Given the description of an element on the screen output the (x, y) to click on. 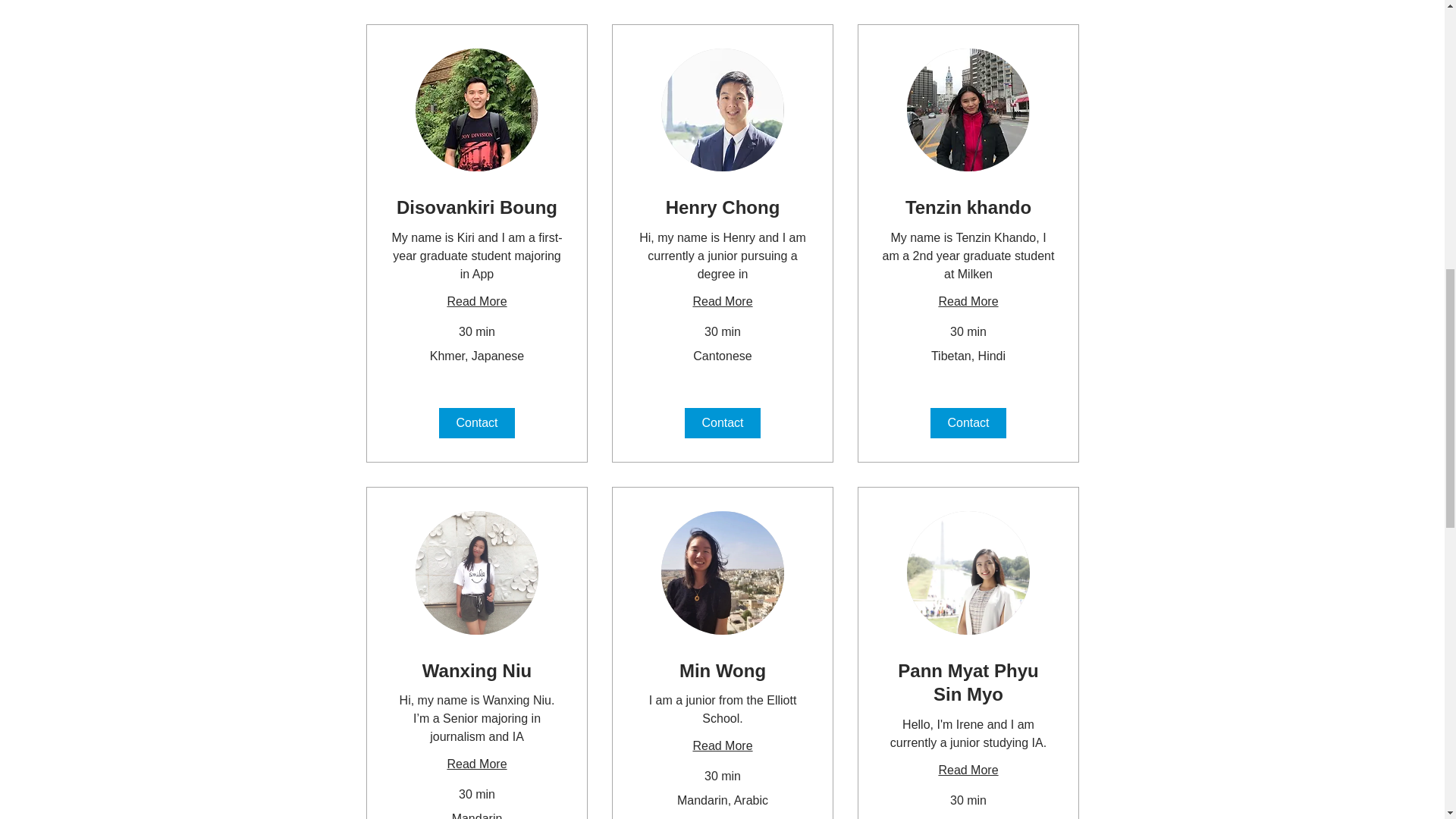
Disovankiri Boung (476, 207)
Read More (967, 301)
Contact (722, 422)
Min Wong (721, 671)
Read More (476, 764)
Contact (475, 422)
Henry Chong (721, 207)
Wanxing Niu (476, 671)
Tenzin khando (967, 207)
Contact (968, 422)
Read More (476, 301)
Read More (721, 301)
Read More (721, 746)
